Given the description of an element on the screen output the (x, y) to click on. 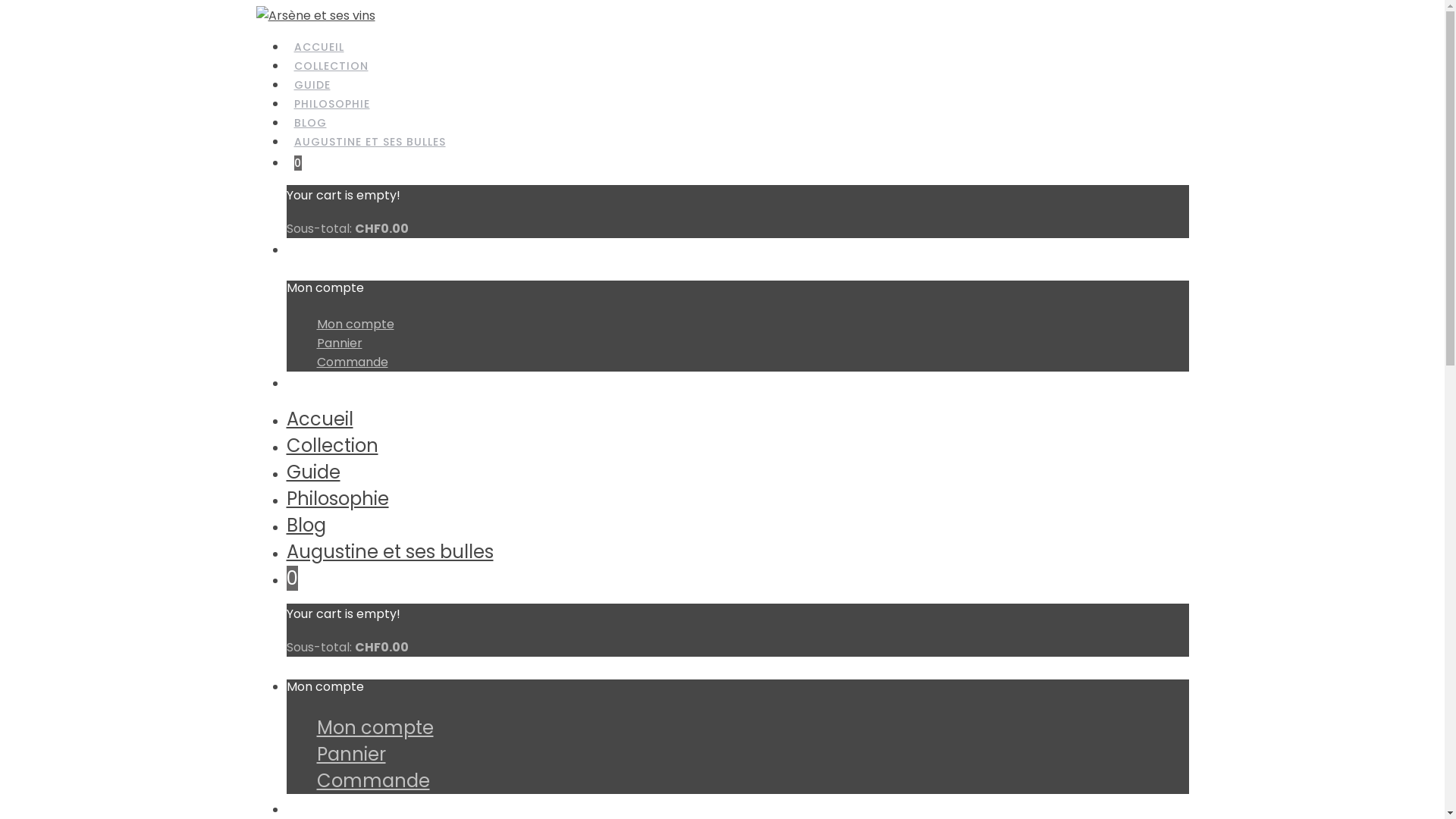
Pannier Element type: text (350, 753)
0 Element type: text (292, 577)
Philosophie Element type: text (337, 498)
Mon compte Element type: text (355, 323)
Accueil Element type: text (319, 418)
0 Element type: text (297, 163)
Blog Element type: text (306, 524)
Augustine et ses bulles Element type: text (389, 551)
Collection Element type: text (332, 445)
Guide Element type: text (313, 471)
Mon compte Element type: text (374, 727)
COLLECTION Element type: text (331, 66)
PHILOSOPHIE Element type: text (331, 104)
ACCUEIL Element type: text (318, 47)
AUGUSTINE ET SES BULLES Element type: text (369, 142)
Commande Element type: text (372, 780)
GUIDE Element type: text (312, 85)
BLOG Element type: text (310, 123)
Pannier Element type: text (339, 342)
Commande Element type: text (352, 361)
